Given the description of an element on the screen output the (x, y) to click on. 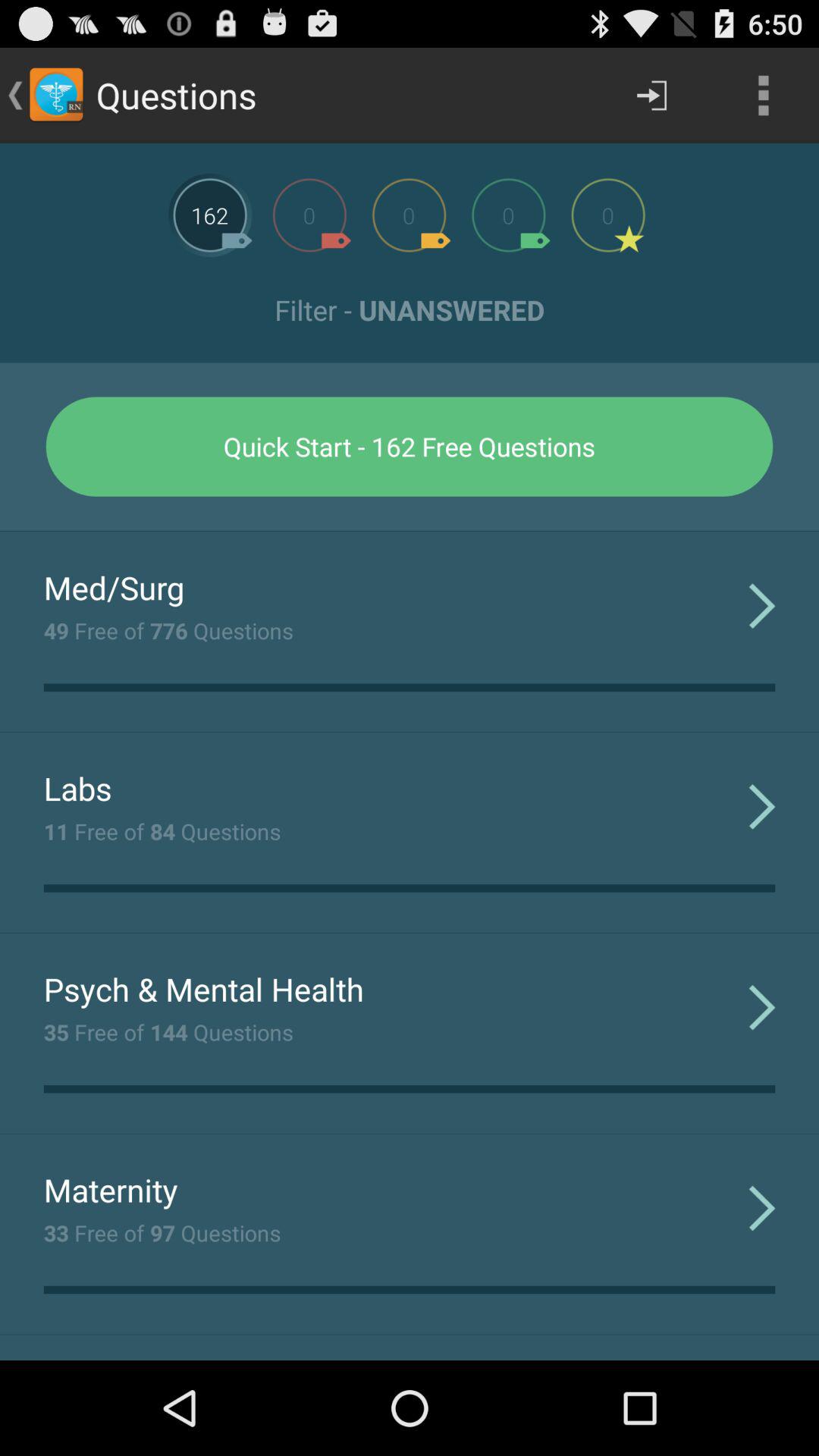
starred questions (608, 215)
